Given the description of an element on the screen output the (x, y) to click on. 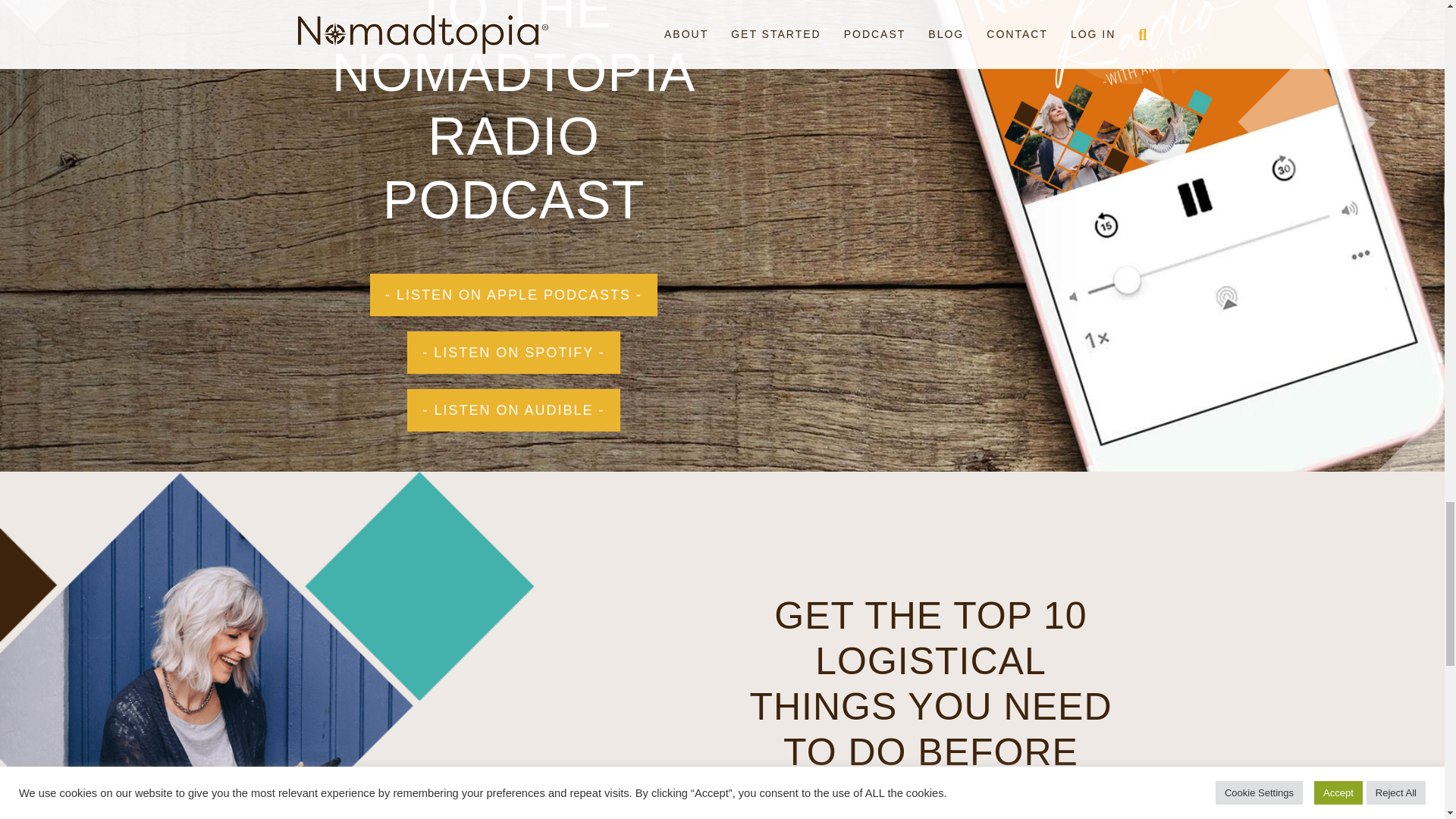
- LISTEN ON AUDIBLE - (513, 410)
- LISTEN ON APPLE PODCASTS - (513, 294)
- LISTEN ON SPOTIFY - (513, 352)
